Given the description of an element on the screen output the (x, y) to click on. 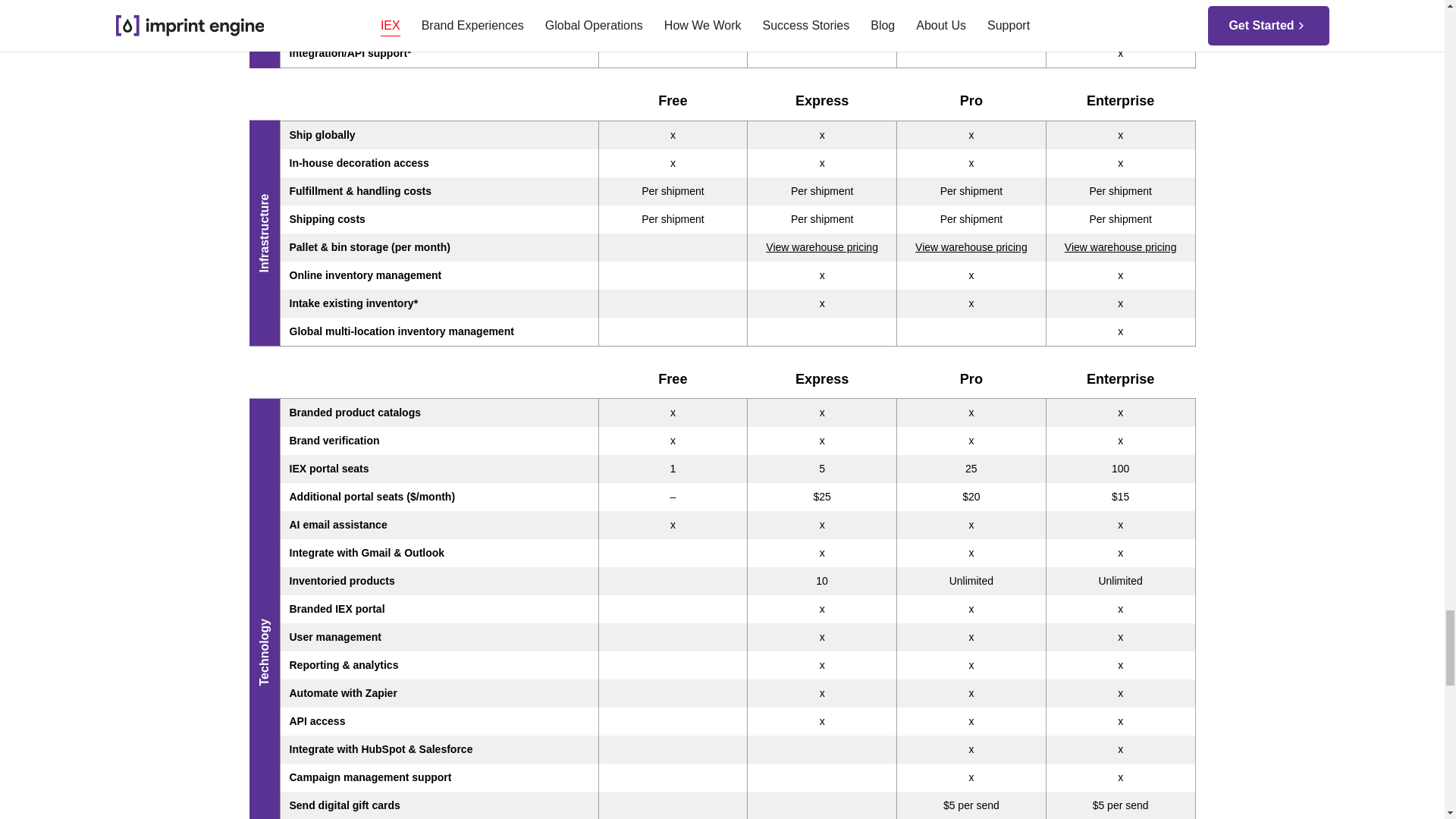
View warehouse pricing (971, 246)
View warehouse pricing (821, 246)
View warehouse pricing (1120, 246)
